Given the description of an element on the screen output the (x, y) to click on. 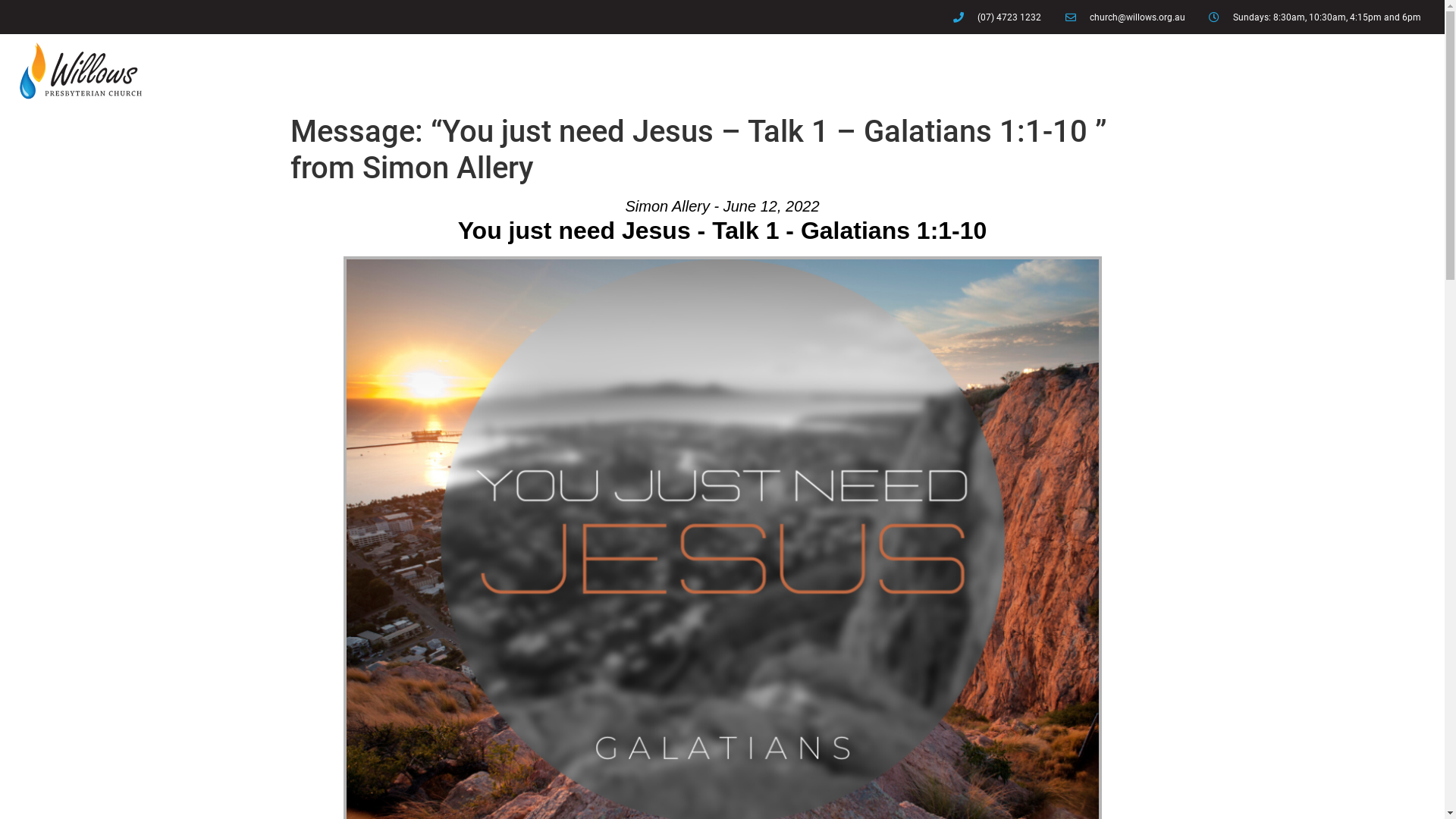
MINISTRIES Element type: text (870, 71)
SERMONS Element type: text (1134, 71)
VISITOR Element type: text (1333, 71)
ABOUT US Element type: text (652, 71)
SUNDAY SERVICES Element type: text (759, 71)
LOG IN Element type: text (1275, 71)
NEW TO CHRISTIANITY? Element type: text (1004, 71)
church@willows.org.au Element type: text (1123, 17)
(07) 4723 1232 Element type: text (995, 17)
CONTACT Element type: text (1212, 71)
HOME Element type: text (582, 71)
EVENTS Element type: text (1394, 71)
